Given the description of an element on the screen output the (x, y) to click on. 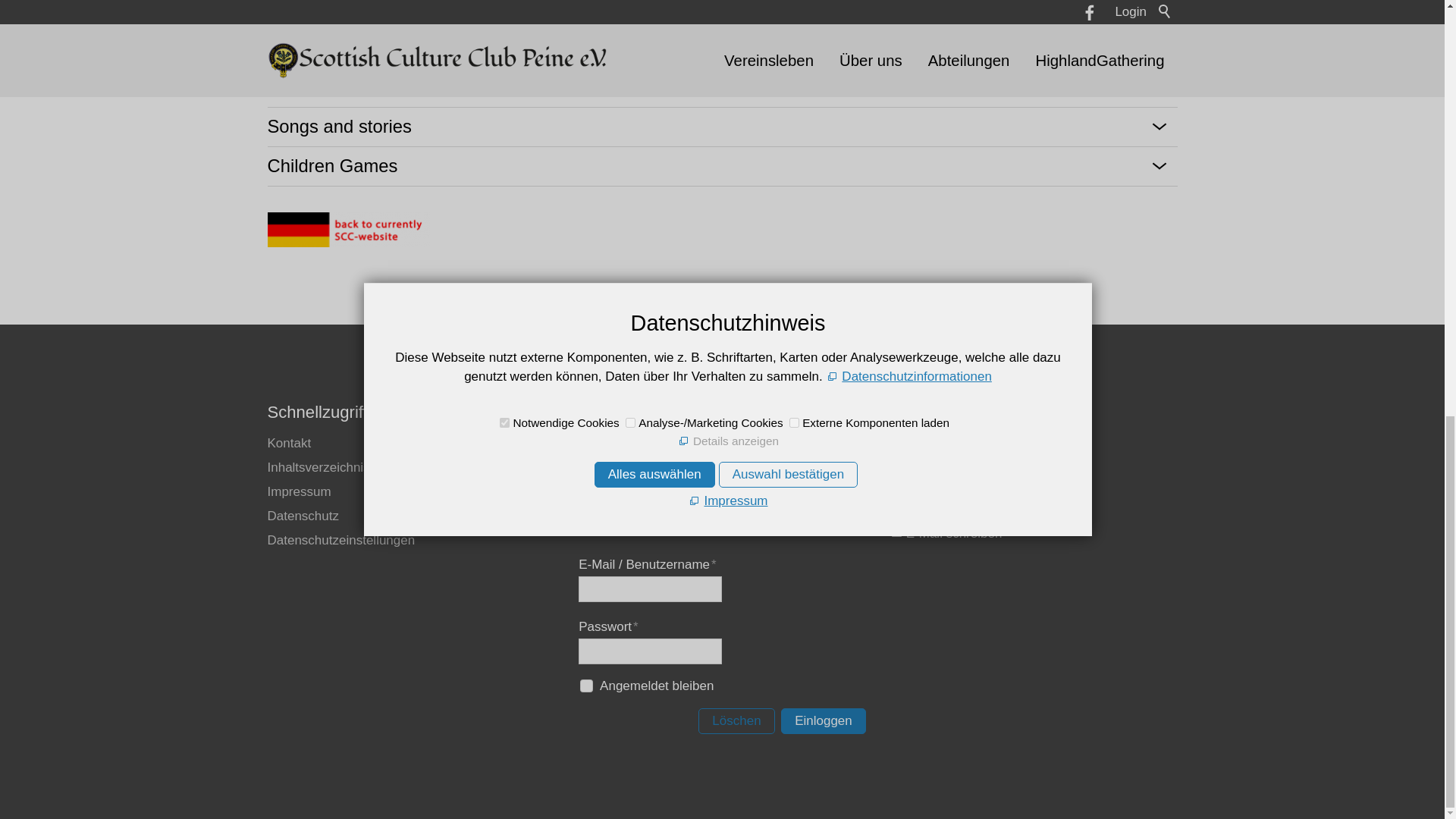
Impressum (298, 491)
1 (585, 685)
interessante Webseiten Dritter (664, 443)
Kontakt (288, 442)
Inhaltsverzeichnis (317, 467)
Links (664, 443)
Datenschutzeinstellungen (340, 540)
Datenschutz (302, 515)
Instagram (626, 522)
